Given the description of an element on the screen output the (x, y) to click on. 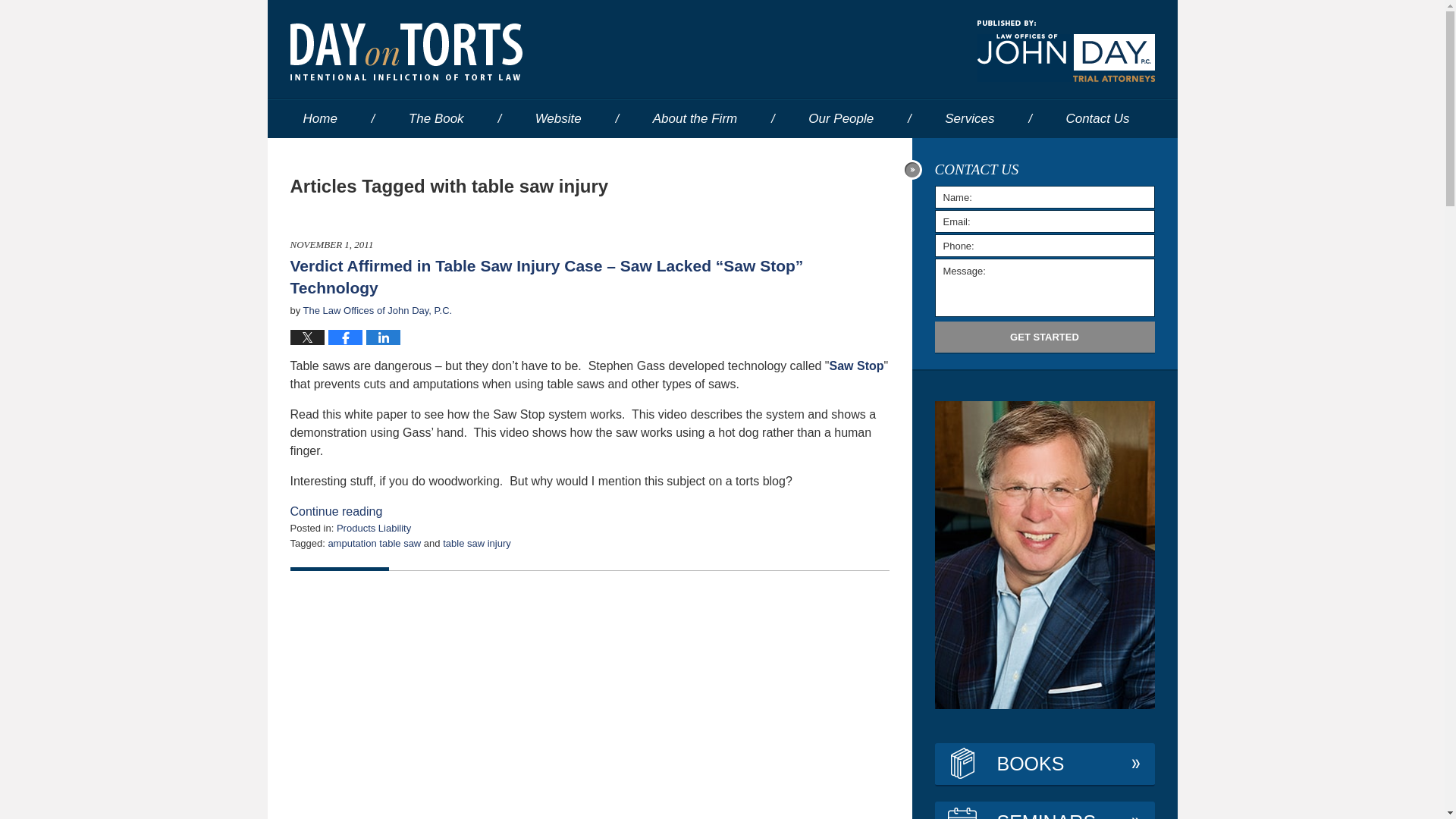
table saw injury (476, 542)
Published By The Law Offices of John Day, P.C. (1065, 50)
SEMINARS (1044, 810)
Services (968, 118)
The Law Offices of John Day, P.C. (377, 310)
About the Firm (695, 118)
Home (319, 118)
The Book (435, 118)
View all posts tagged with table saw injury (476, 542)
Day on Torts (405, 51)
Products Liability (373, 527)
Contact Us (1096, 118)
View all posts in Products Liability (373, 527)
BOOKS (1044, 764)
amputation table saw (373, 542)
